Given the description of an element on the screen output the (x, y) to click on. 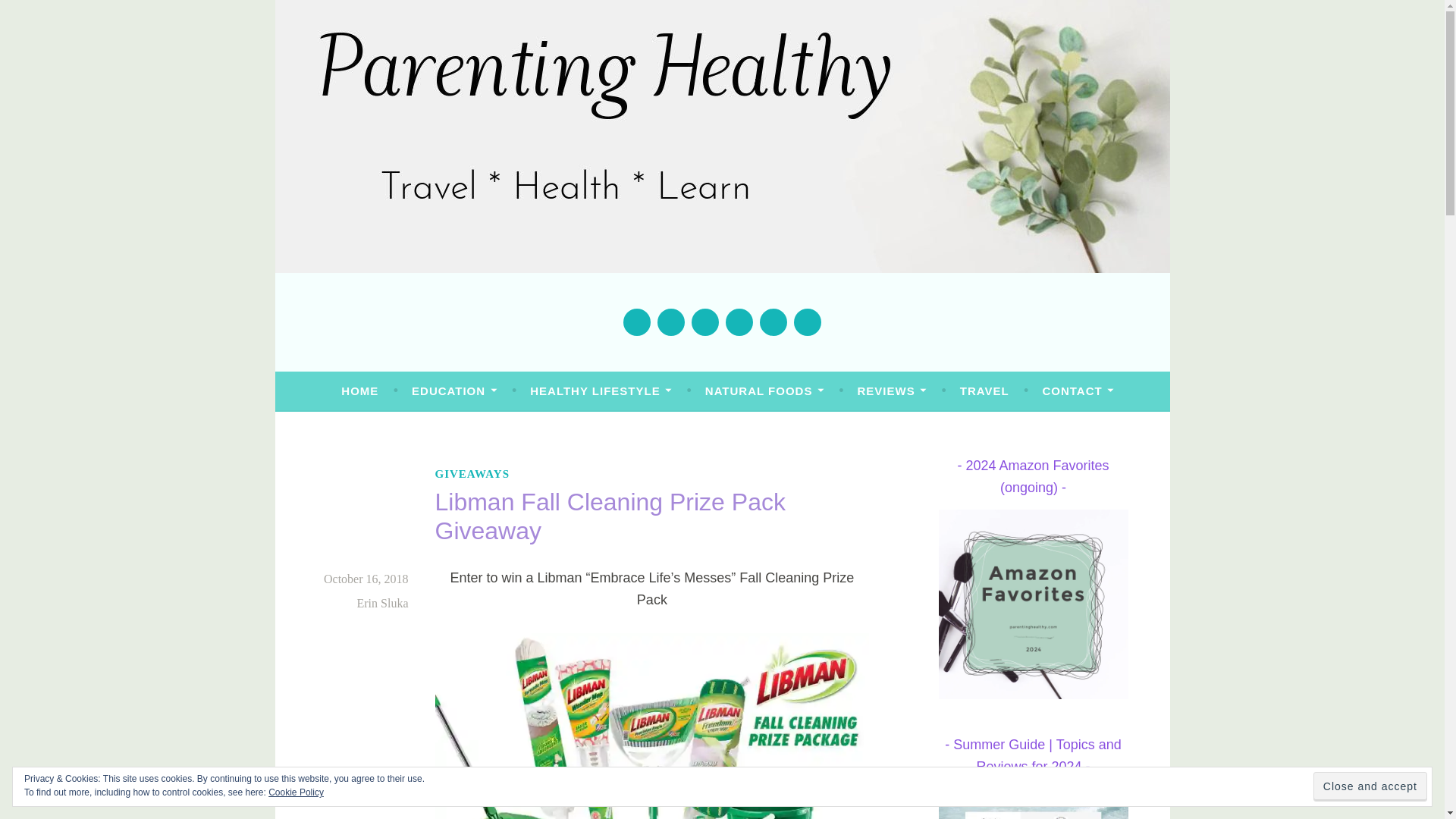
GIVEAWAYS (472, 474)
Close and accept (1369, 786)
Twitter (670, 322)
Pinterest (739, 322)
Parenting Healthy (446, 323)
October 16, 2018 (366, 578)
CONTACT (1077, 390)
Libman Fall Cleaning Prize Pack Giveaway (652, 726)
Erin Sluka (381, 603)
TRAVEL (984, 390)
NATURAL FOODS (764, 390)
EDUCATION (454, 390)
HOME (359, 390)
Subscribe (807, 322)
Facebook (636, 322)
